Given the description of an element on the screen output the (x, y) to click on. 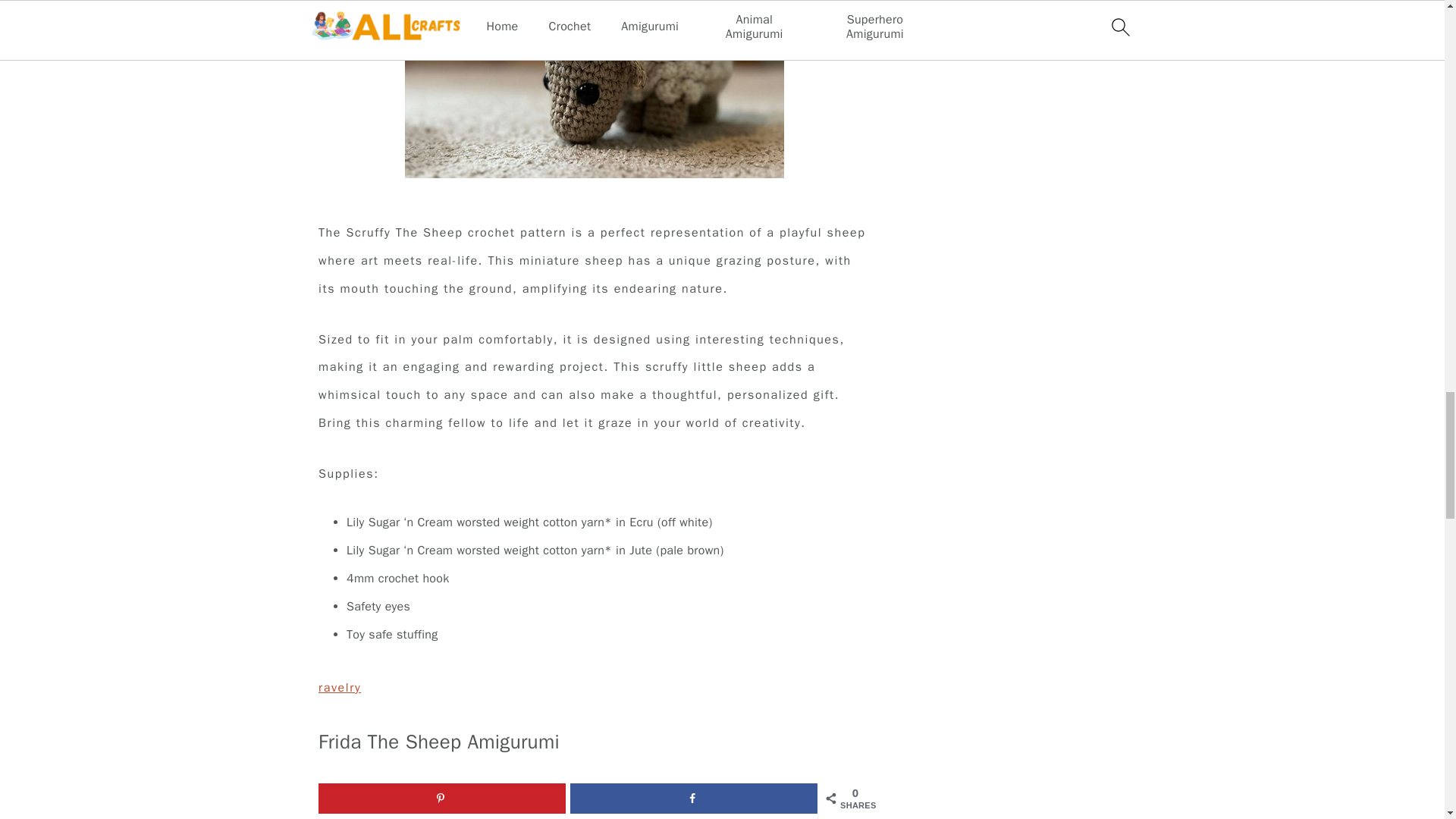
ravelry (339, 687)
